Given the description of an element on the screen output the (x, y) to click on. 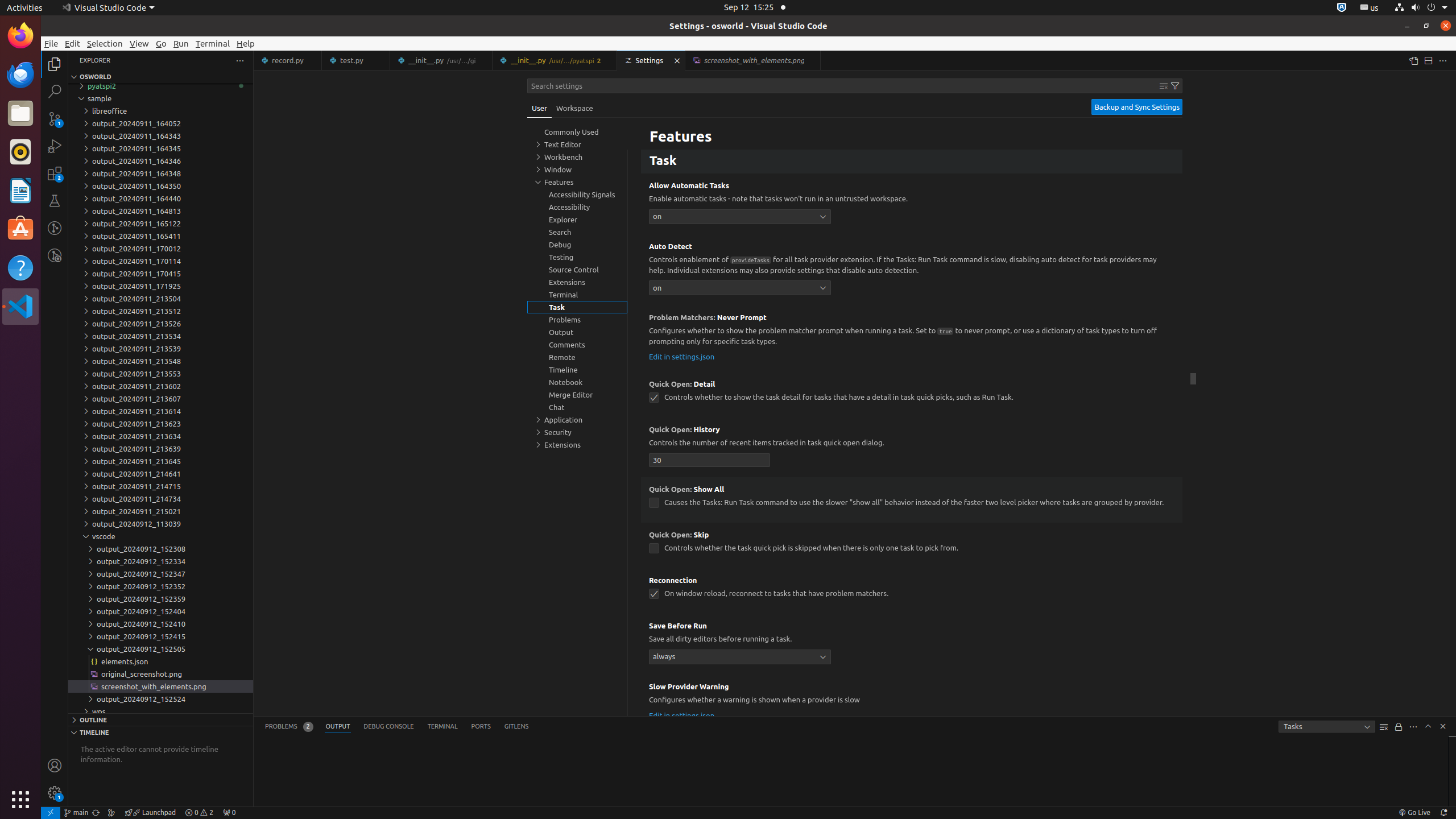
output_20240911_164350 Element type: tree-item (160, 185)
Quick Open Detail. Controls whether to show the task detail for tasks that have a detail in task quick picks, such as Run Task.  Element type: tree-item (911, 394)
Workbench, group Element type: tree-item (577, 156)
task.quickOpen.history Element type: spin-button (709, 459)
Quick Open History. Controls the number of recent items tracked in task quick open dialog.  Element type: tree-item (911, 447)
